Given the description of an element on the screen output the (x, y) to click on. 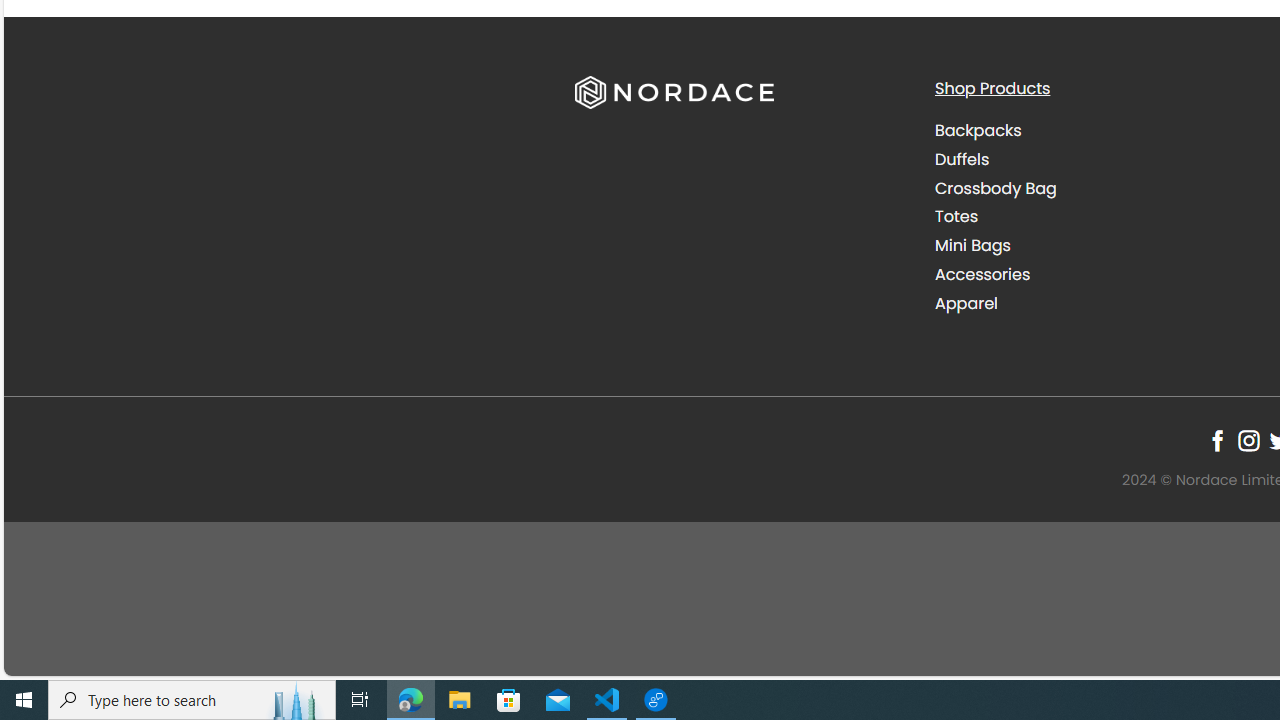
Accessories (1099, 274)
